Given the description of an element on the screen output the (x, y) to click on. 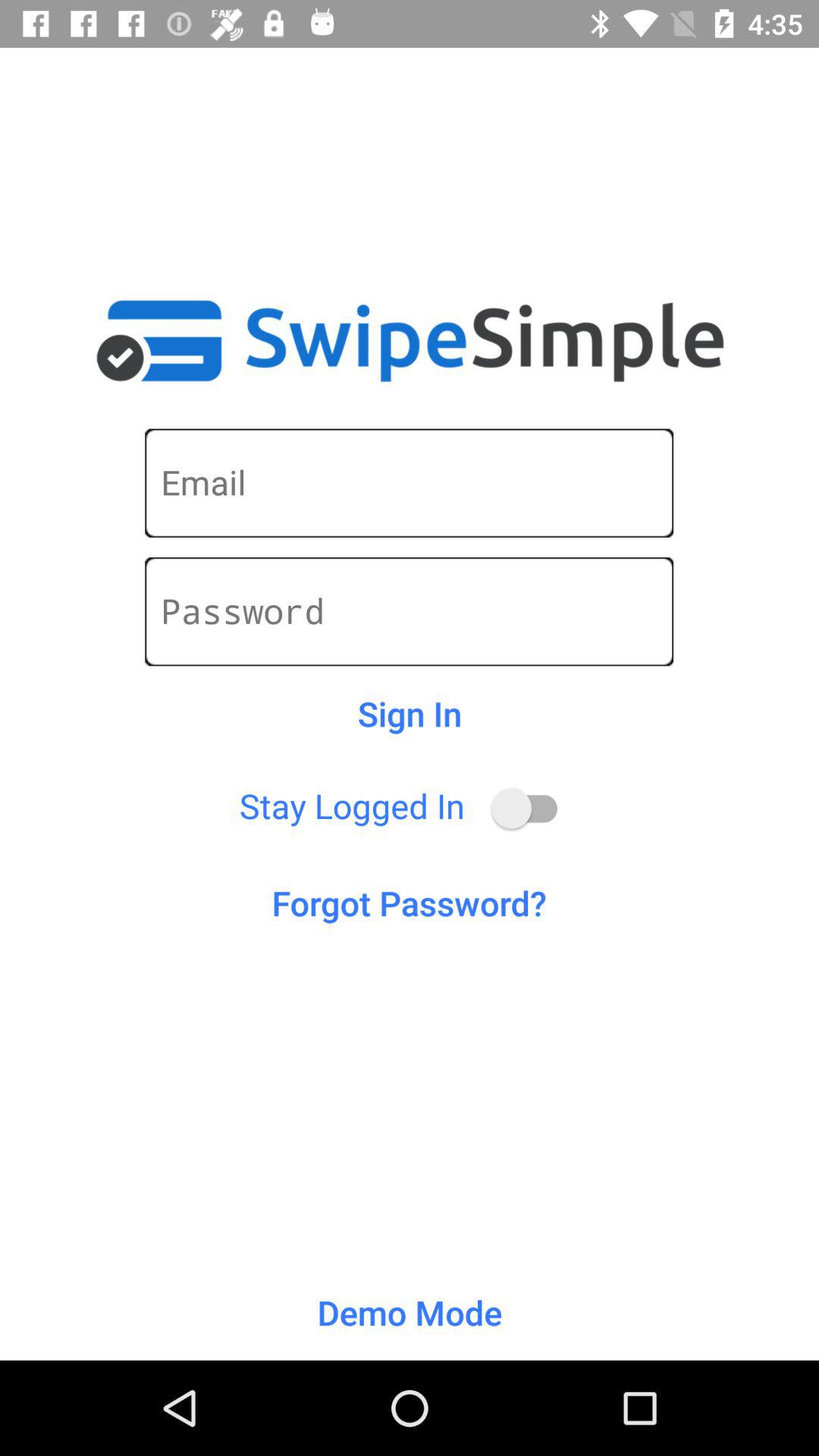
toggle stay logged in option (531, 808)
